Given the description of an element on the screen output the (x, y) to click on. 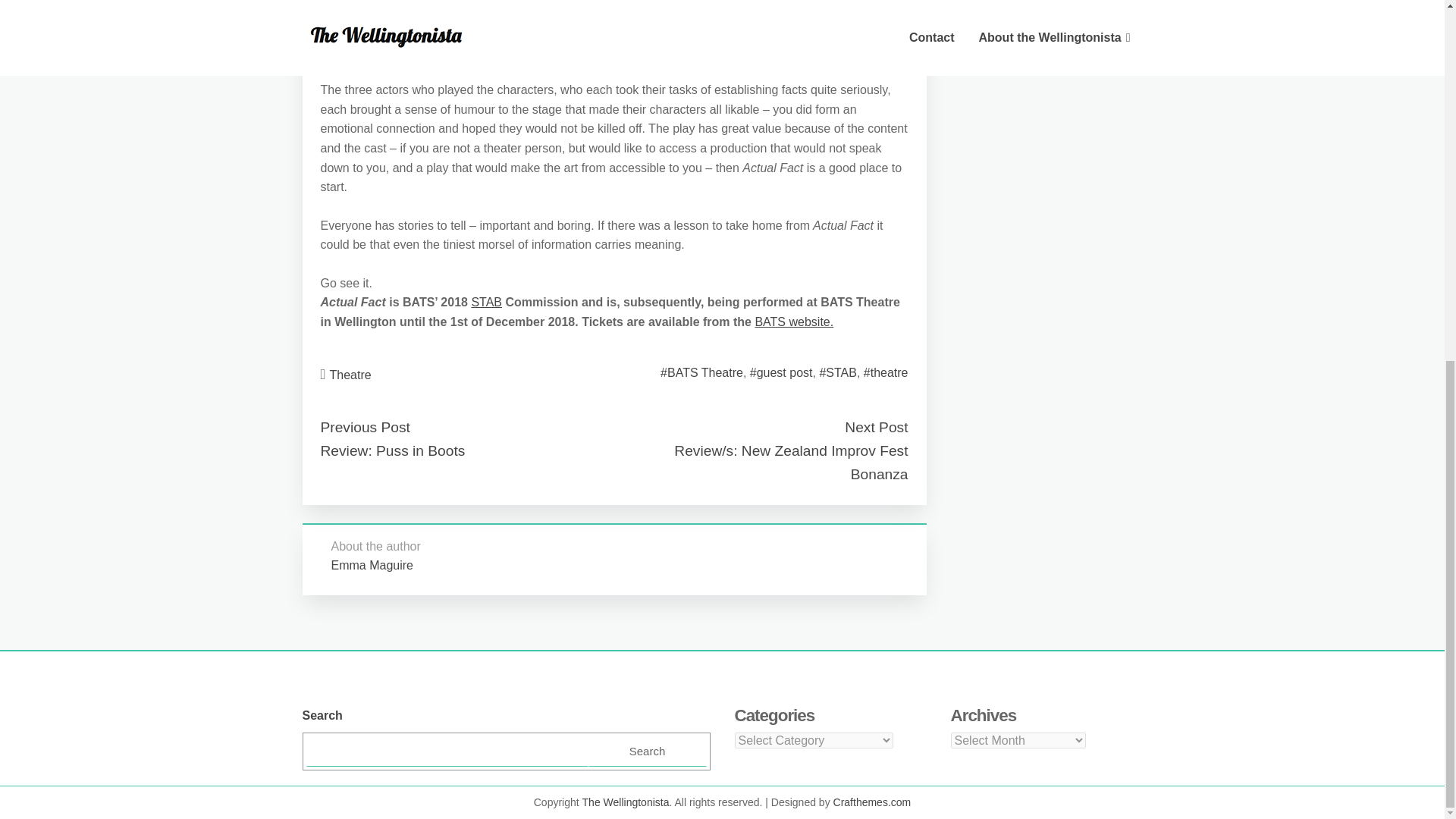
Emma Maguire (371, 564)
STAB (486, 301)
Search (647, 751)
Crafthemes.com (871, 802)
Review: Puss in Boots (392, 450)
Theatre (350, 374)
Previous Post (364, 426)
BATS website. (793, 321)
The Wellingtonista (625, 802)
Next Post (875, 426)
